Given the description of an element on the screen output the (x, y) to click on. 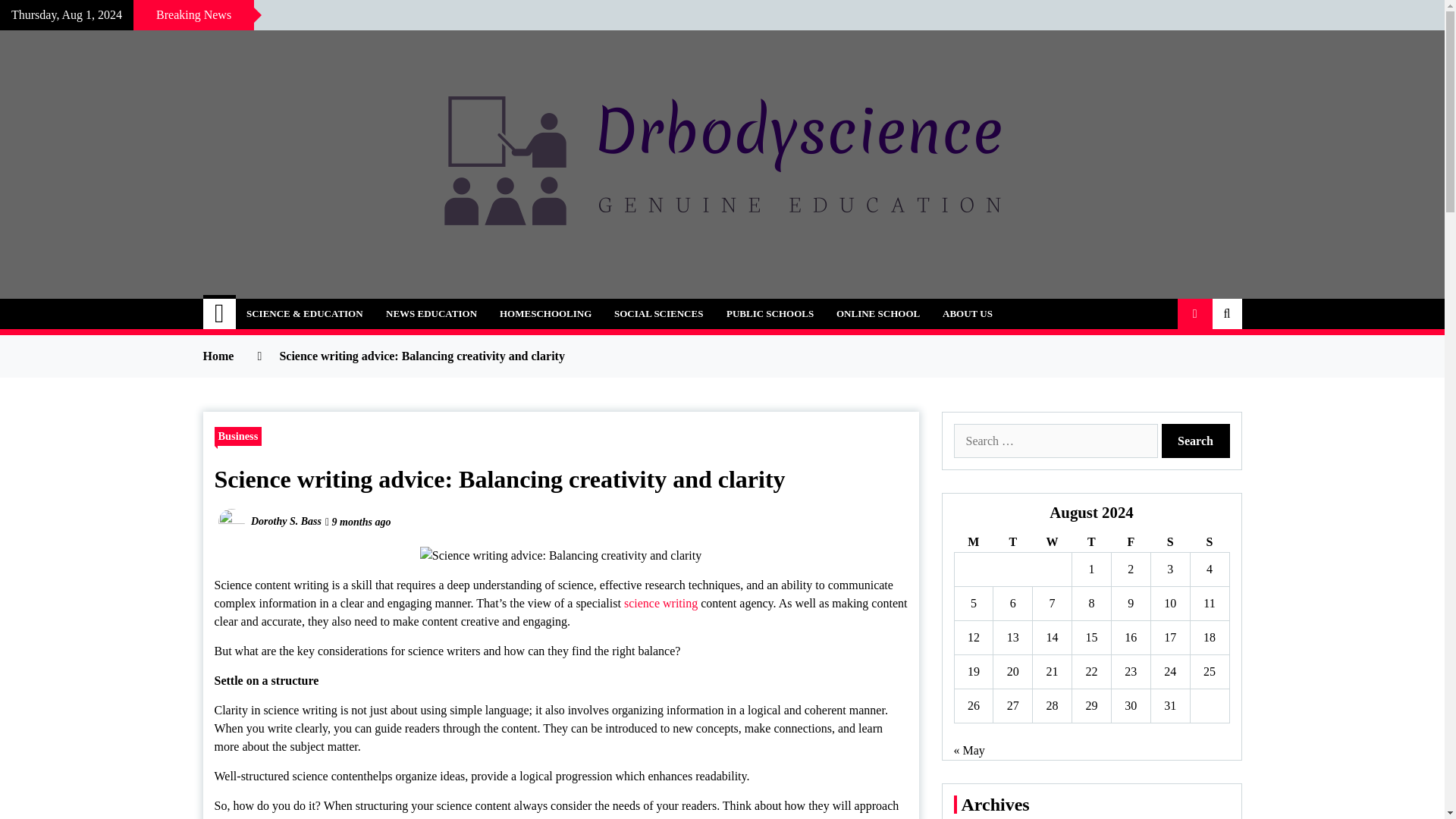
Search (1195, 440)
Home (219, 313)
NEWS EDUCATION (430, 313)
Sunday (1208, 542)
Saturday (1169, 542)
HOMESCHOOLING (544, 313)
Monday (972, 542)
Friday (1130, 542)
SOCIAL SCIENCES (658, 313)
Search (1195, 440)
PUBLIC SCHOOLS (769, 313)
Thursday (1091, 542)
ABOUT US (967, 313)
ONLINE SCHOOL (878, 313)
Tuesday (1012, 542)
